Given the description of an element on the screen output the (x, y) to click on. 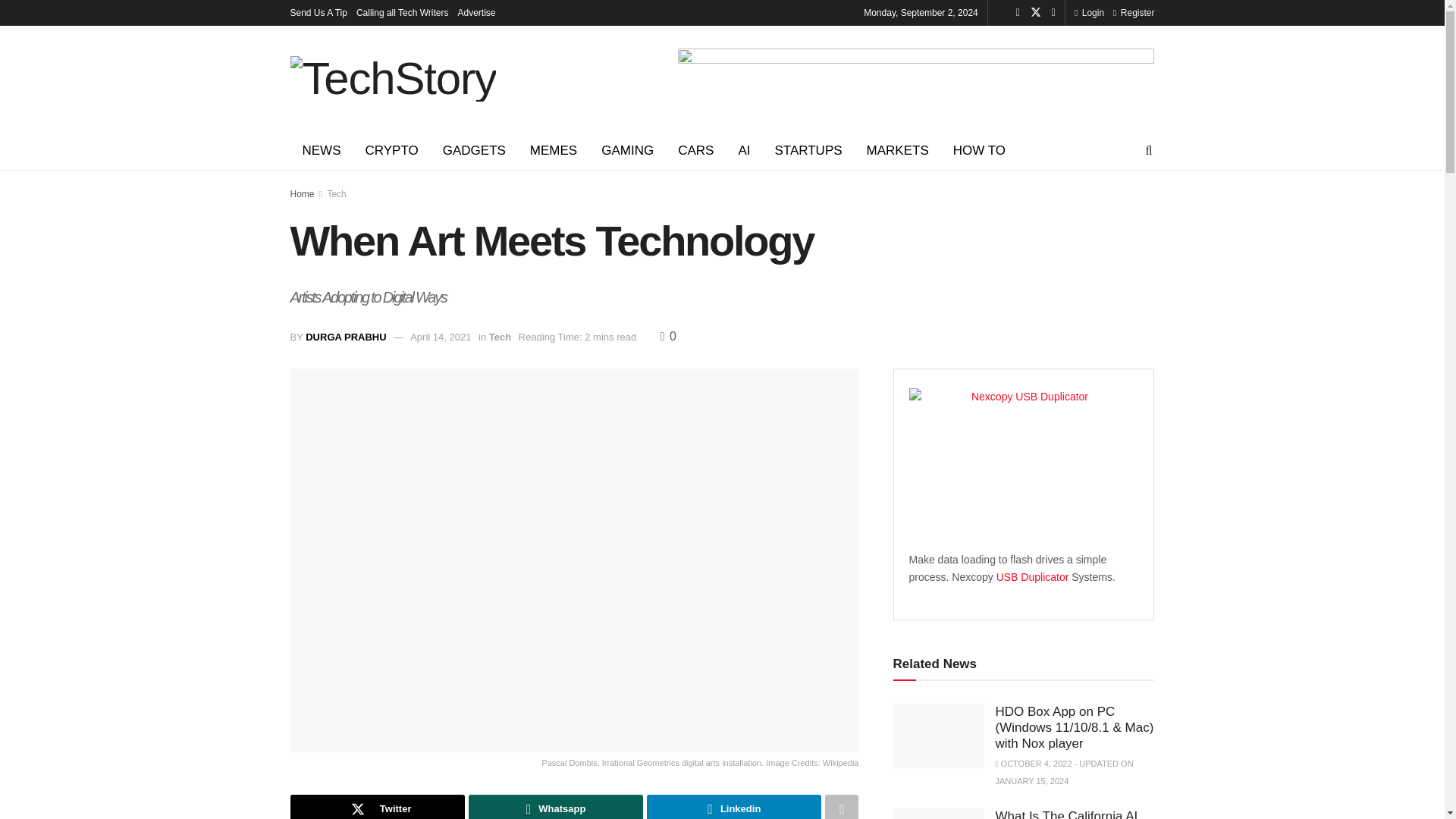
STARTUPS (807, 150)
Register (1133, 12)
Login (1088, 12)
CRYPTO (391, 150)
Send Us A Tip (317, 12)
Calling all Tech Writers (402, 12)
NEWS (320, 150)
MEMES (553, 150)
CARS (695, 150)
AI (743, 150)
